Given the description of an element on the screen output the (x, y) to click on. 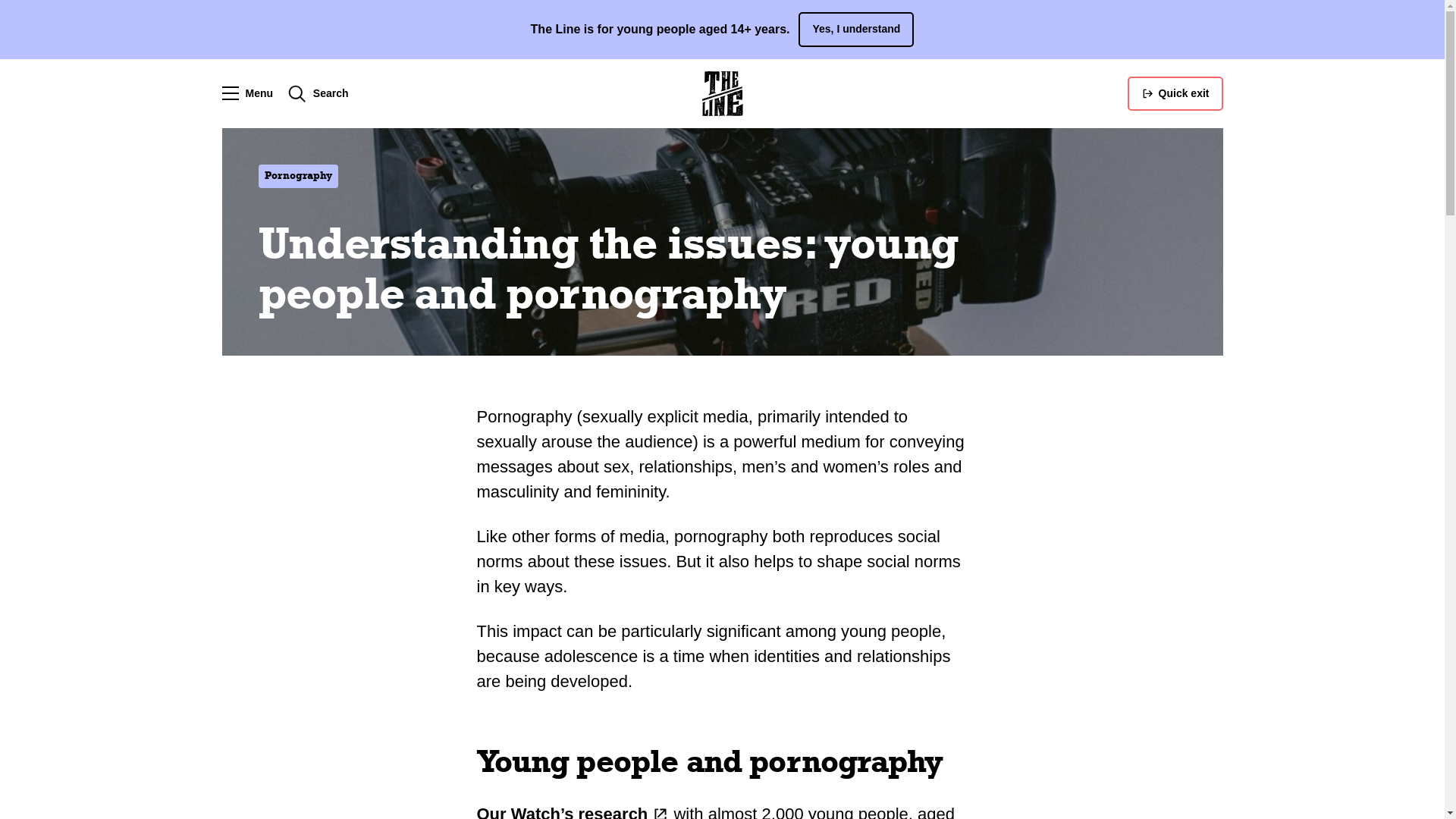
Search Element type: text (318, 93)
Menu Element type: text (247, 93)
The Line Element type: hover (722, 93)
Pornography Element type: text (297, 175)
Yes, I understand Element type: text (855, 29)
Quick exit Element type: text (1175, 93)
